Given the description of an element on the screen output the (x, y) to click on. 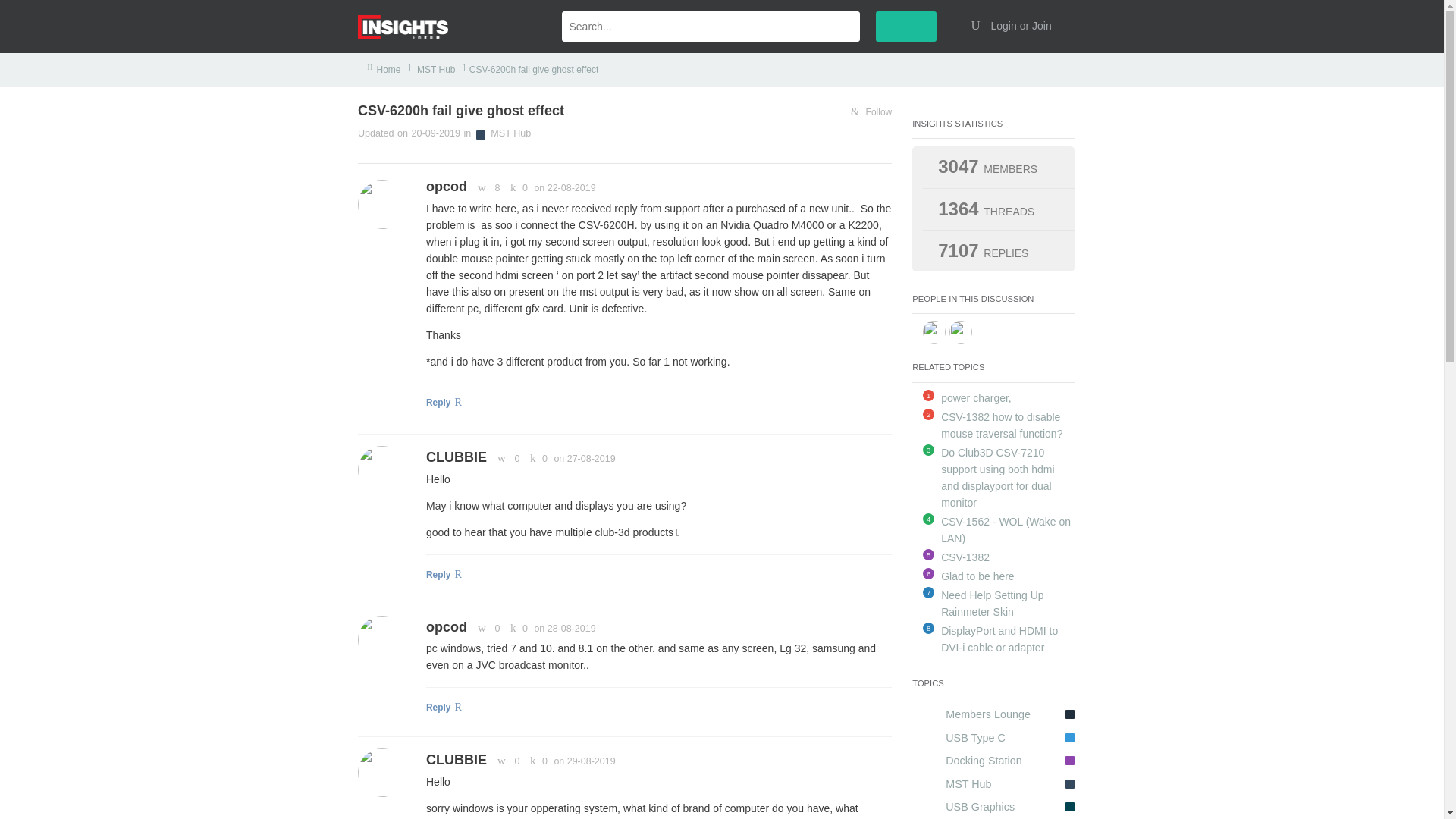
Login or Join (1016, 26)
Follow (870, 112)
opcod (446, 186)
CLUBBIE (456, 457)
0 (505, 458)
0 (515, 187)
MST Hub (434, 69)
Home (389, 69)
Reply (658, 404)
Reply (658, 576)
opcod (446, 626)
0 (486, 628)
0 (515, 628)
0 (536, 458)
MST Hub (510, 132)
